Given the description of an element on the screen output the (x, y) to click on. 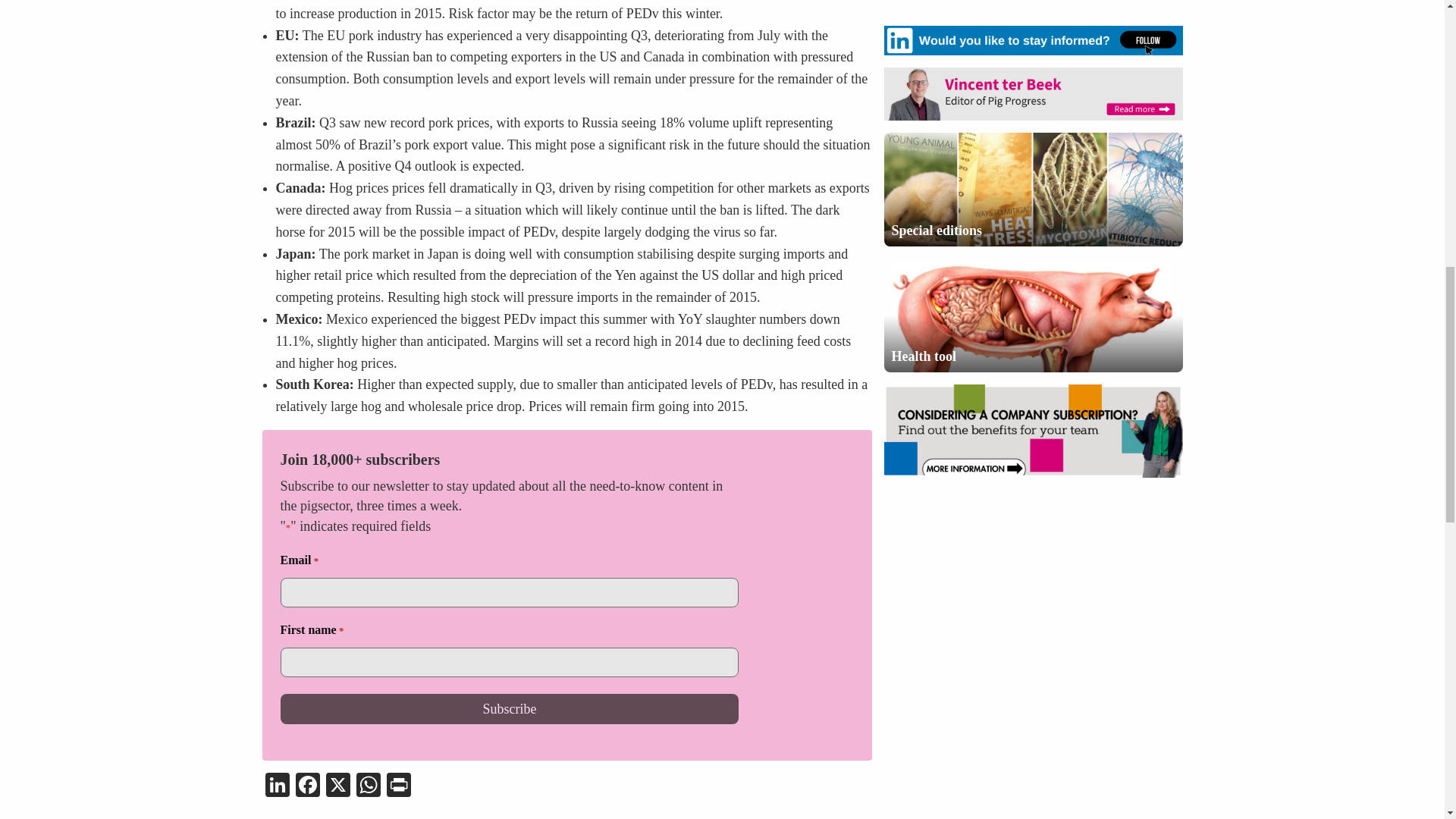
LinkedIn (277, 786)
X (338, 786)
WhatsApp (368, 786)
Subscribe (510, 708)
Facebook (307, 786)
Print (398, 786)
